Given the description of an element on the screen output the (x, y) to click on. 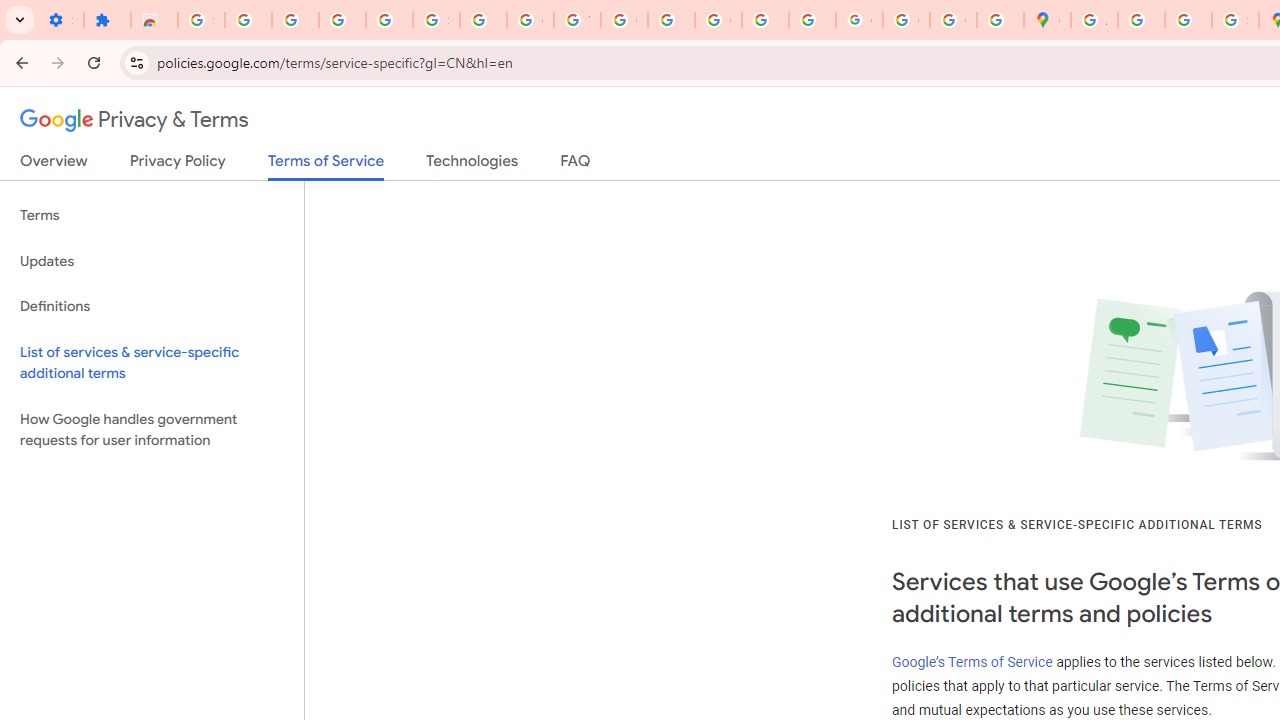
YouTube (577, 20)
Google Maps (1047, 20)
Settings - On startup (60, 20)
Sign in - Google Accounts (201, 20)
